Given the description of an element on the screen output the (x, y) to click on. 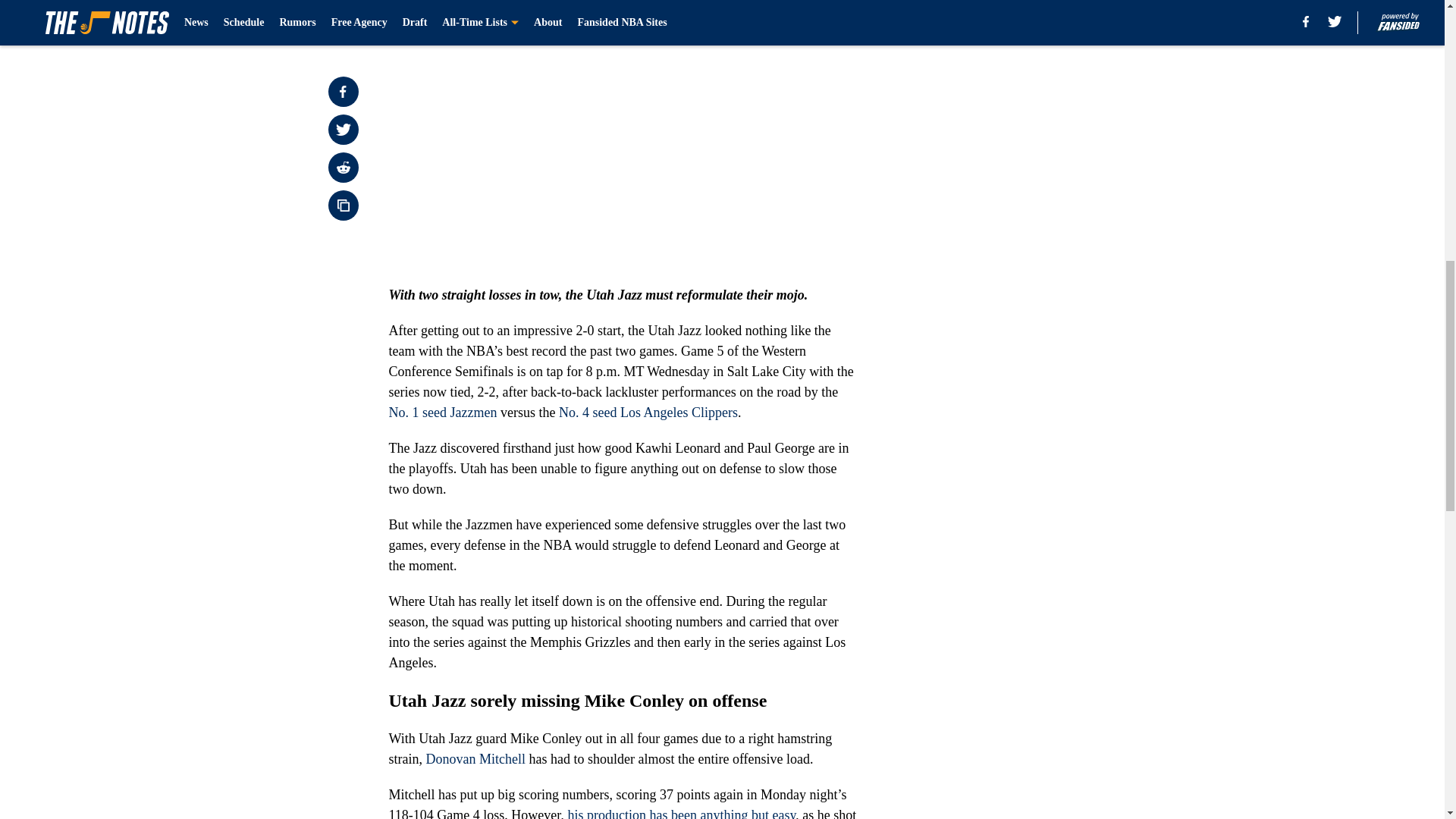
No. 1 seed Jazzmen (442, 412)
Donovan Mitchell (475, 758)
No. 4 seed Los Angeles Clippers (648, 412)
his production has been anything but easy (681, 813)
